Given the description of an element on the screen output the (x, y) to click on. 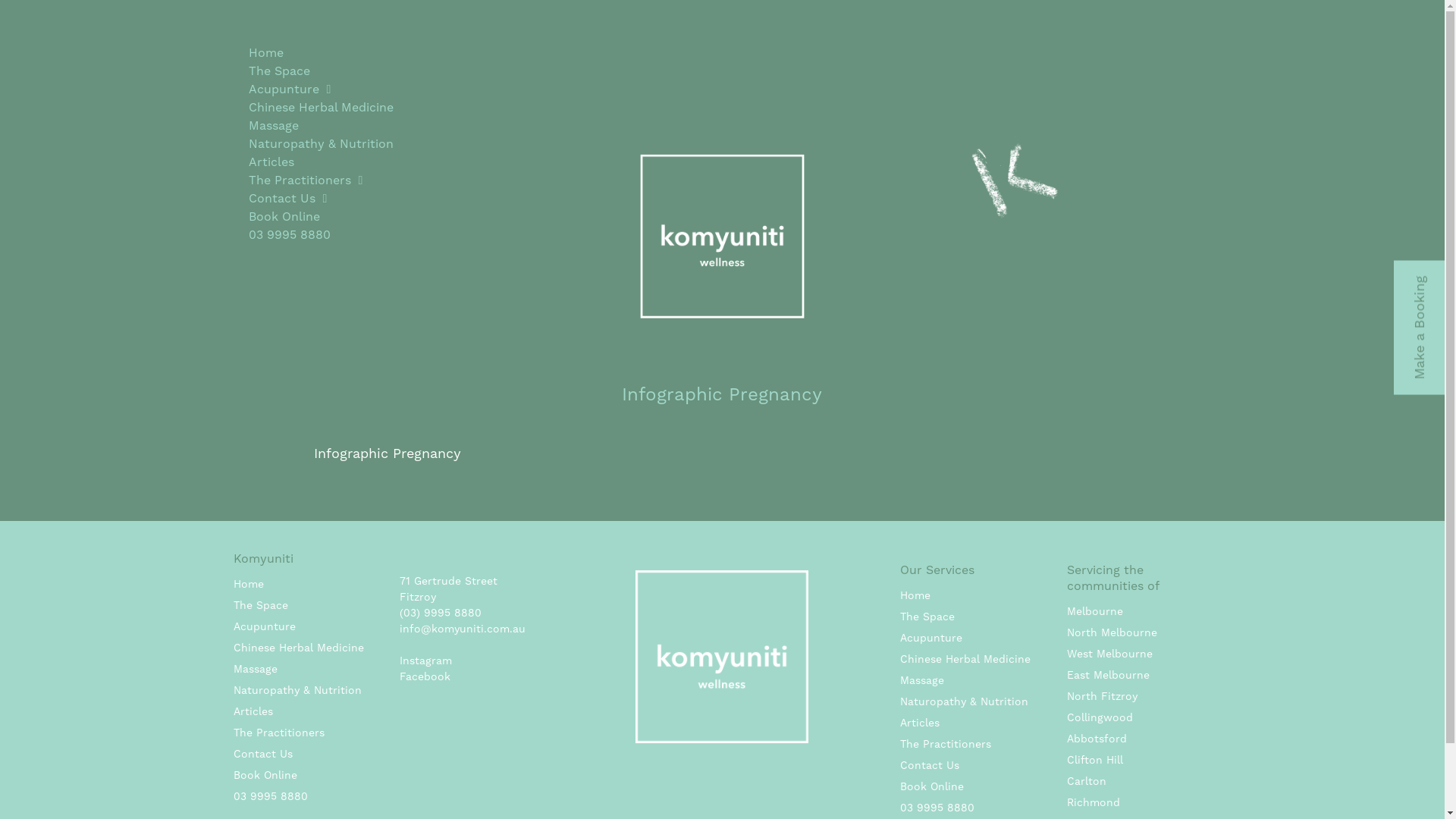
Abbotsford Element type: text (1096, 738)
Book Online Element type: text (931, 786)
Contact Us Element type: text (929, 765)
The Space Element type: text (320, 71)
Acupunture Element type: text (931, 637)
The Space Element type: text (927, 616)
Home Element type: text (915, 595)
Naturopathy & Nutrition Element type: text (297, 690)
Facebook Element type: text (424, 676)
The Space Element type: text (260, 605)
info@komyuniti.com.au Element type: text (462, 628)
Carlton Element type: text (1086, 781)
Massage Element type: text (922, 680)
03 9995 8880 Element type: text (320, 234)
Acupunture Element type: text (264, 626)
The Practitioners Element type: text (278, 732)
Richmond Element type: text (1093, 802)
Chinese Herbal Medicine Element type: text (298, 647)
Clifton Hill Element type: text (1094, 759)
The Practitioners Element type: text (320, 180)
Articles Element type: text (253, 711)
Book Online Element type: text (320, 216)
Contact Us Element type: text (320, 198)
Naturopathy & Nutrition Element type: text (320, 143)
Infographic Pregnancy Element type: text (387, 453)
Massage Element type: text (255, 668)
Contact Us Element type: text (262, 753)
Acupunture Element type: text (320, 89)
The Practitioners Element type: text (945, 743)
Home Element type: text (248, 583)
03 9995 8880 Element type: text (270, 796)
Home Element type: text (320, 52)
Chinese Herbal Medicine Element type: text (965, 658)
Collingwood Element type: text (1099, 717)
03 9995 8880 Element type: text (937, 807)
Book Online Element type: text (265, 774)
(03) 9995 8880 Element type: text (440, 612)
Massage Element type: text (320, 125)
71 Gertrude Street
Fitzroy Element type: text (448, 588)
Instagram Element type: text (425, 660)
Chinese Herbal Medicine Element type: text (320, 107)
Articles Element type: text (919, 722)
Naturopathy & Nutrition Element type: text (964, 701)
North Fitzroy Element type: text (1101, 696)
Articles Element type: text (320, 162)
